Given the description of an element on the screen output the (x, y) to click on. 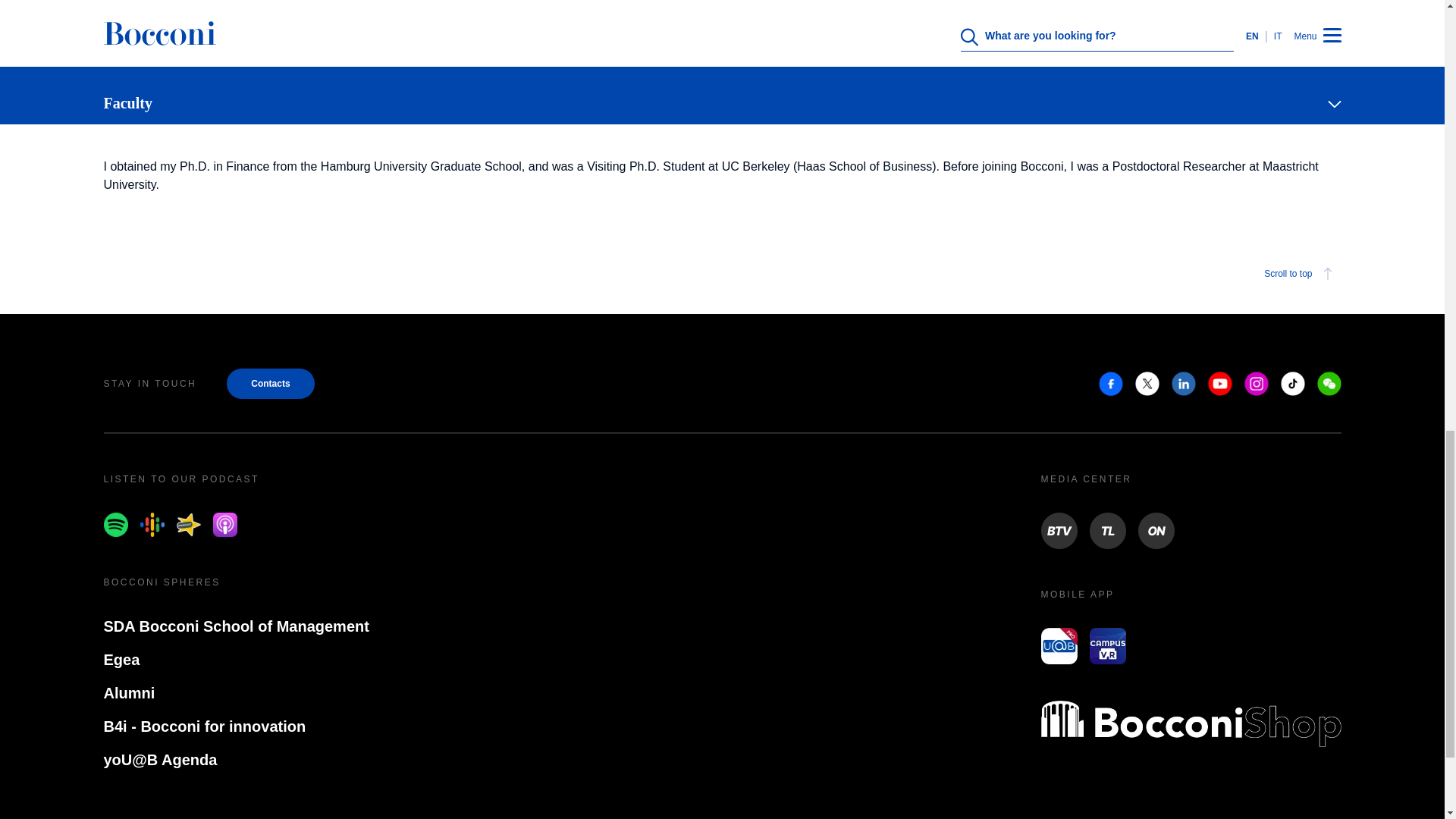
Tiktok (1291, 383)
Instagram (1255, 383)
Facebook (1109, 383)
Linkedin (1182, 383)
Scroll to top (721, 273)
Scroll to top (1299, 273)
Weechat (1328, 383)
Twitter (1146, 383)
Youtube (1219, 383)
